Given the description of an element on the screen output the (x, y) to click on. 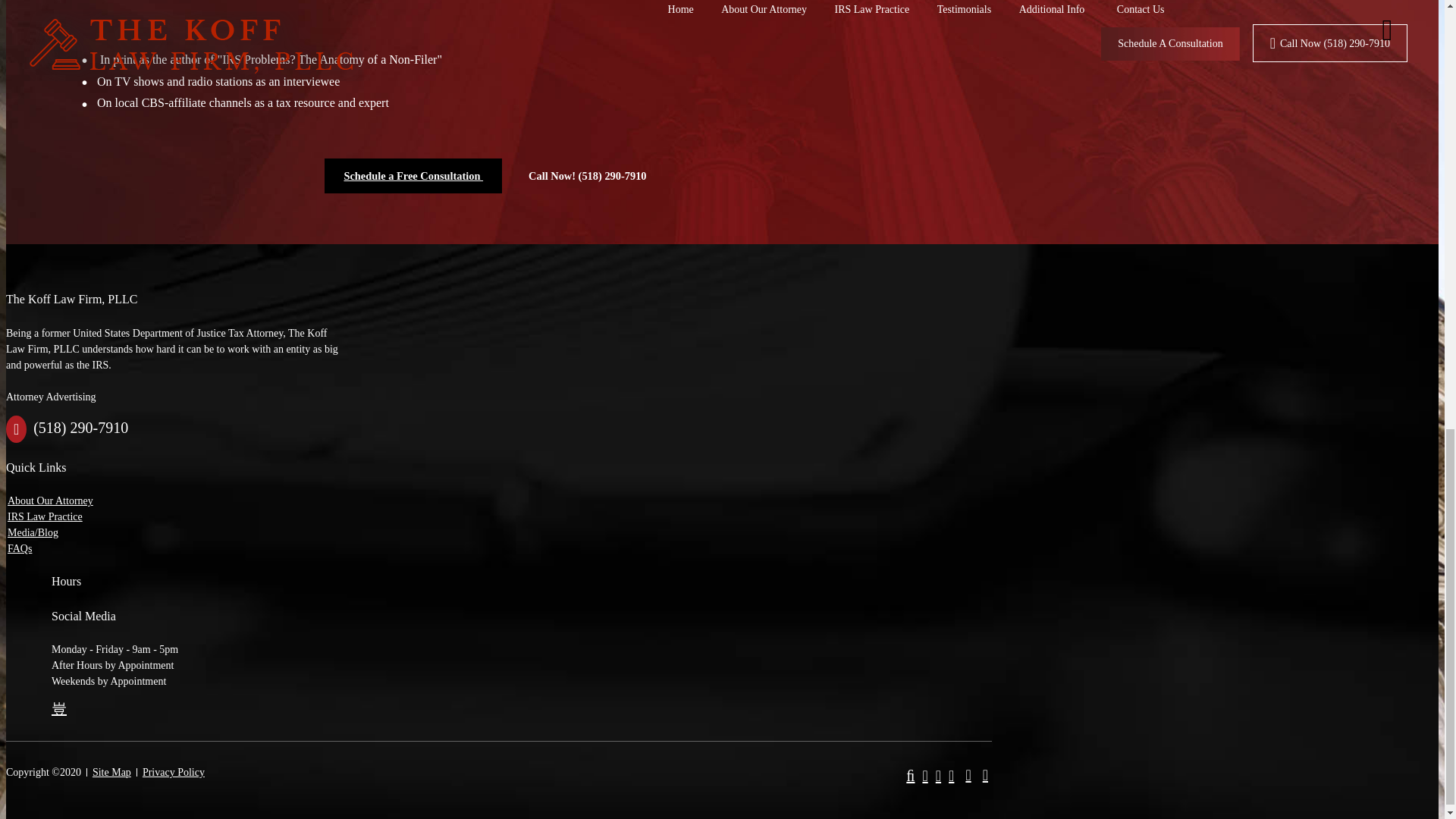
IRS Law Practice (44, 516)
Discover (951, 775)
AMEX (909, 775)
FAQs (19, 548)
Cash (985, 774)
Site Map (112, 772)
MasterCard (924, 775)
Google My Business (58, 708)
Schedule a Free Consultation (413, 175)
About Our Attorney (50, 500)
Check (967, 774)
Visa (938, 775)
